Given the description of an element on the screen output the (x, y) to click on. 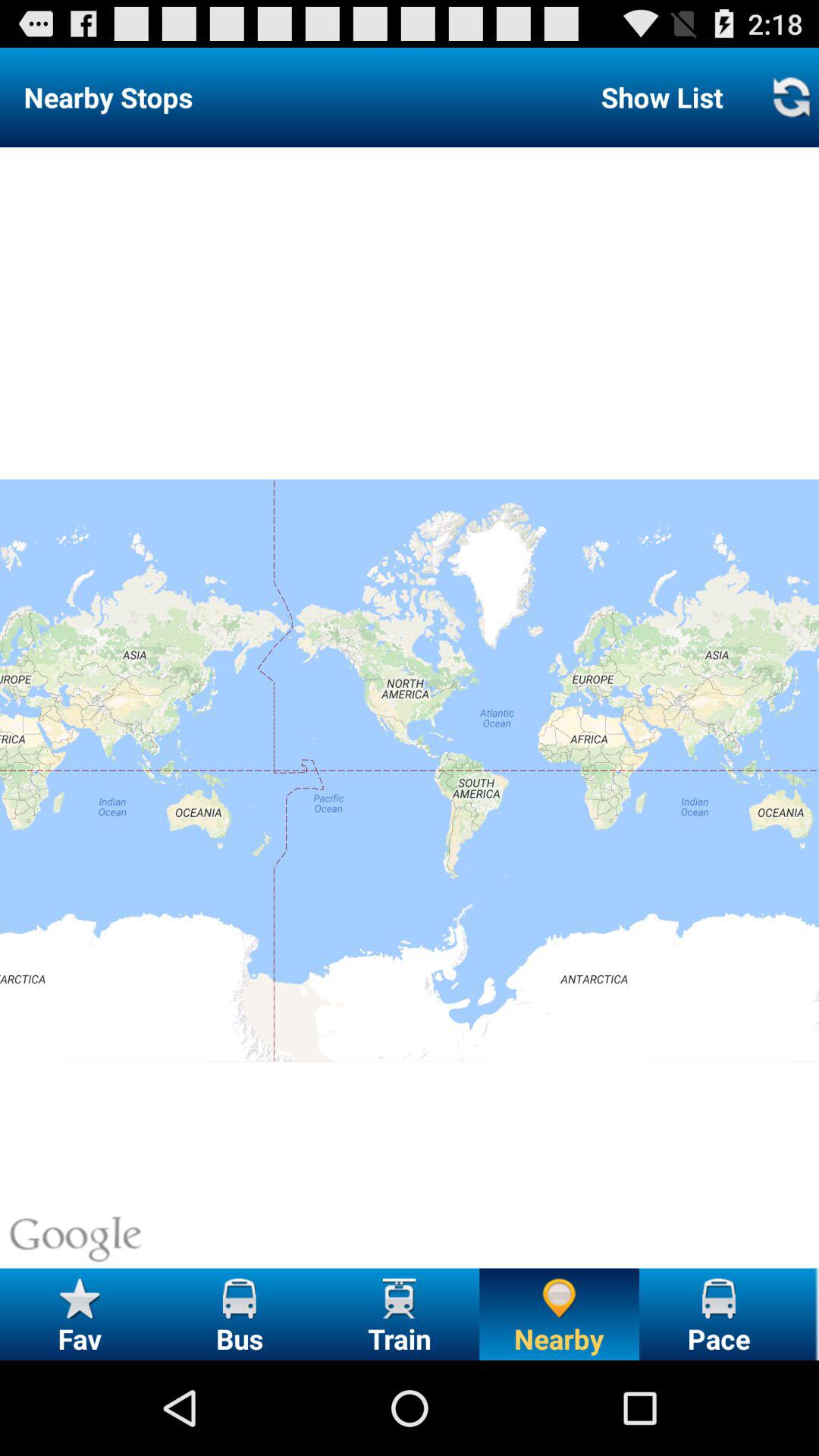
refresh the list (791, 97)
